Given the description of an element on the screen output the (x, y) to click on. 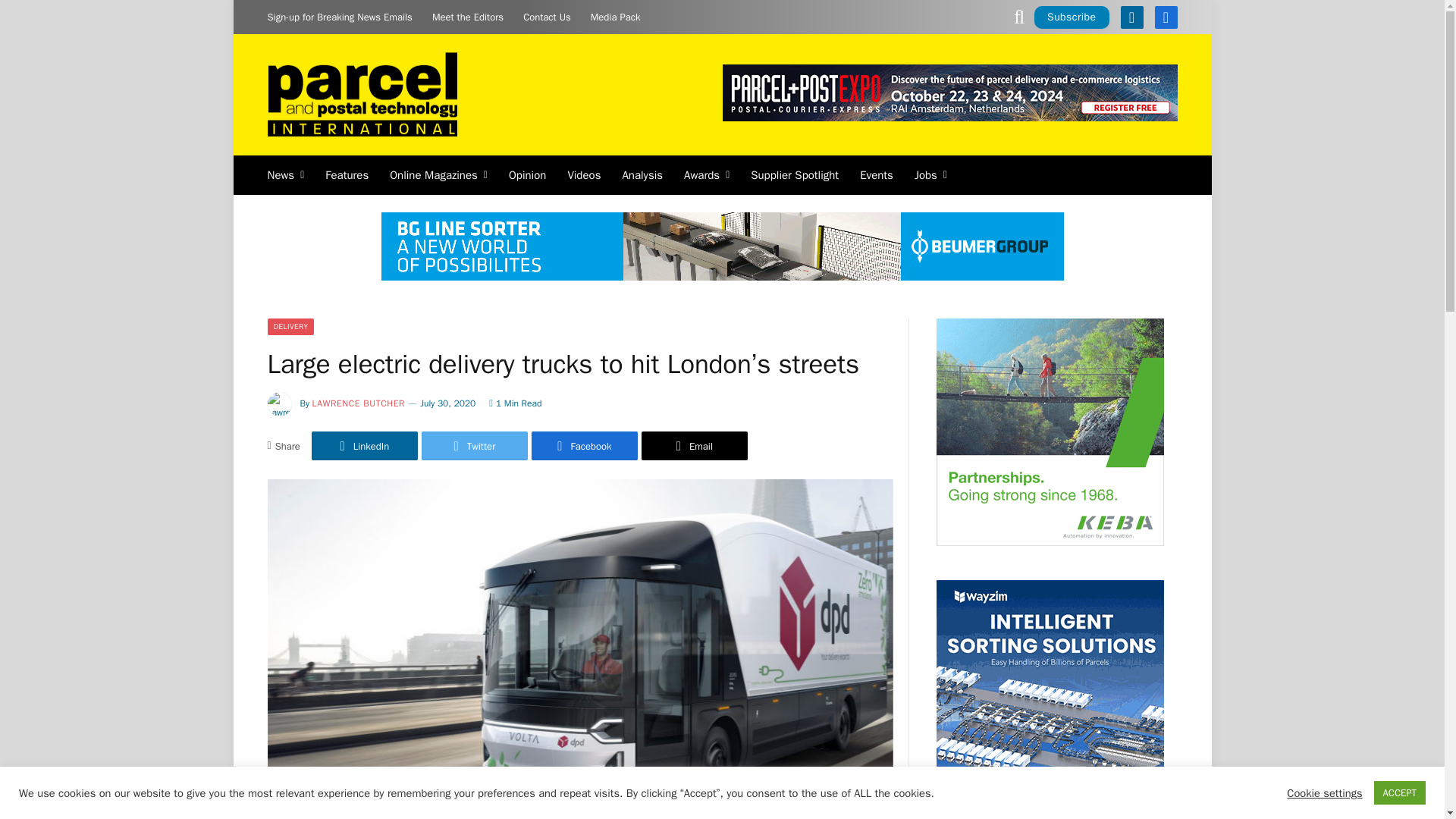
Share via Email (695, 445)
Share on Twitter (474, 445)
Posts by Lawrence Butcher (359, 403)
Parcel and Postal Technology International (361, 95)
Search (1018, 17)
Share on Facebook (584, 445)
Share on LinkedIn (364, 445)
